Given the description of an element on the screen output the (x, y) to click on. 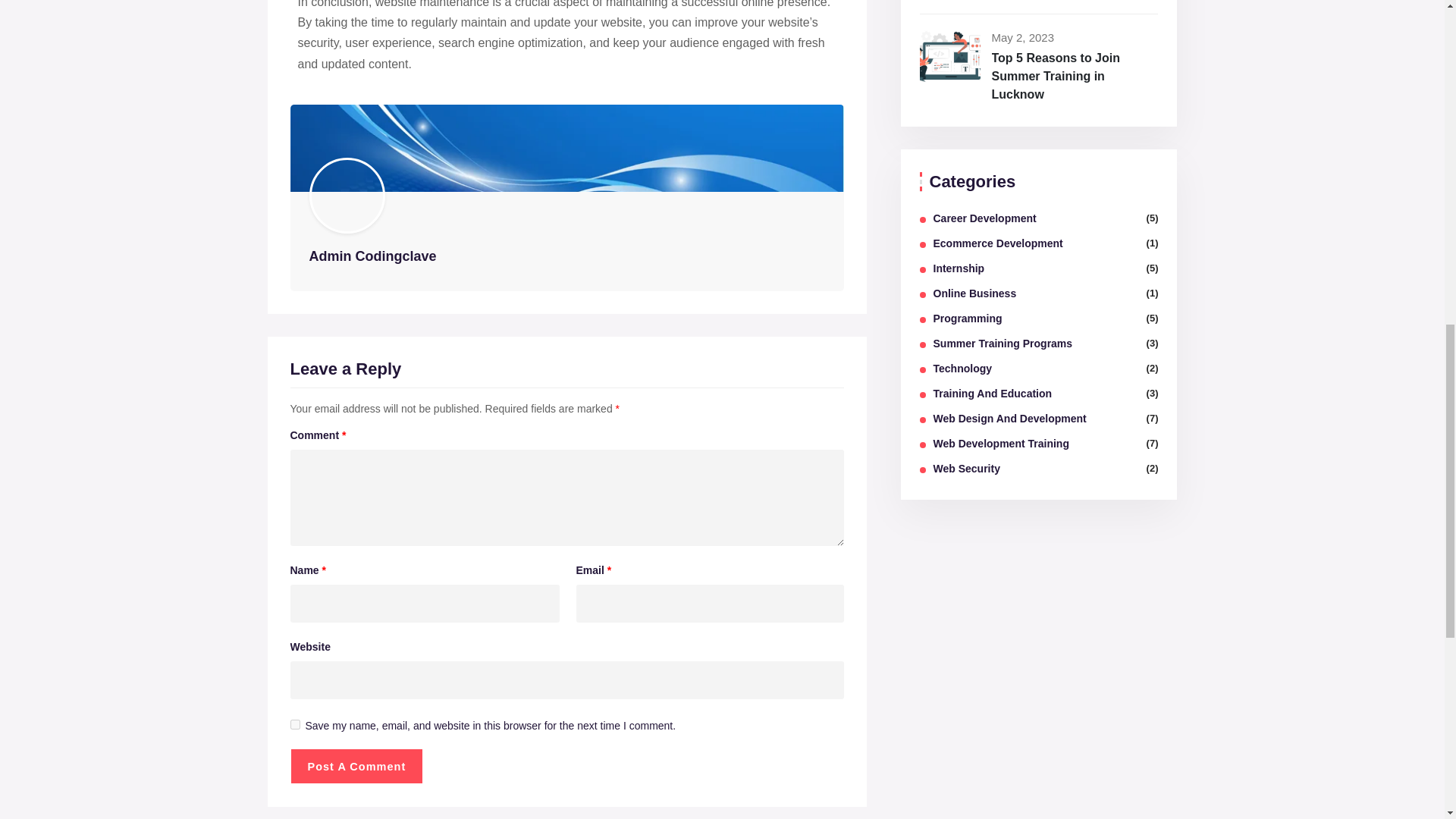
Programming (967, 318)
Post a Comment (356, 765)
Post a Comment (356, 765)
Ecommerce Development (997, 243)
yes (294, 724)
Top 5 Reasons to Join Summer Training in Lucknow (1056, 75)
Online Business (974, 293)
Career Development (984, 218)
Internship (958, 268)
